Given the description of an element on the screen output the (x, y) to click on. 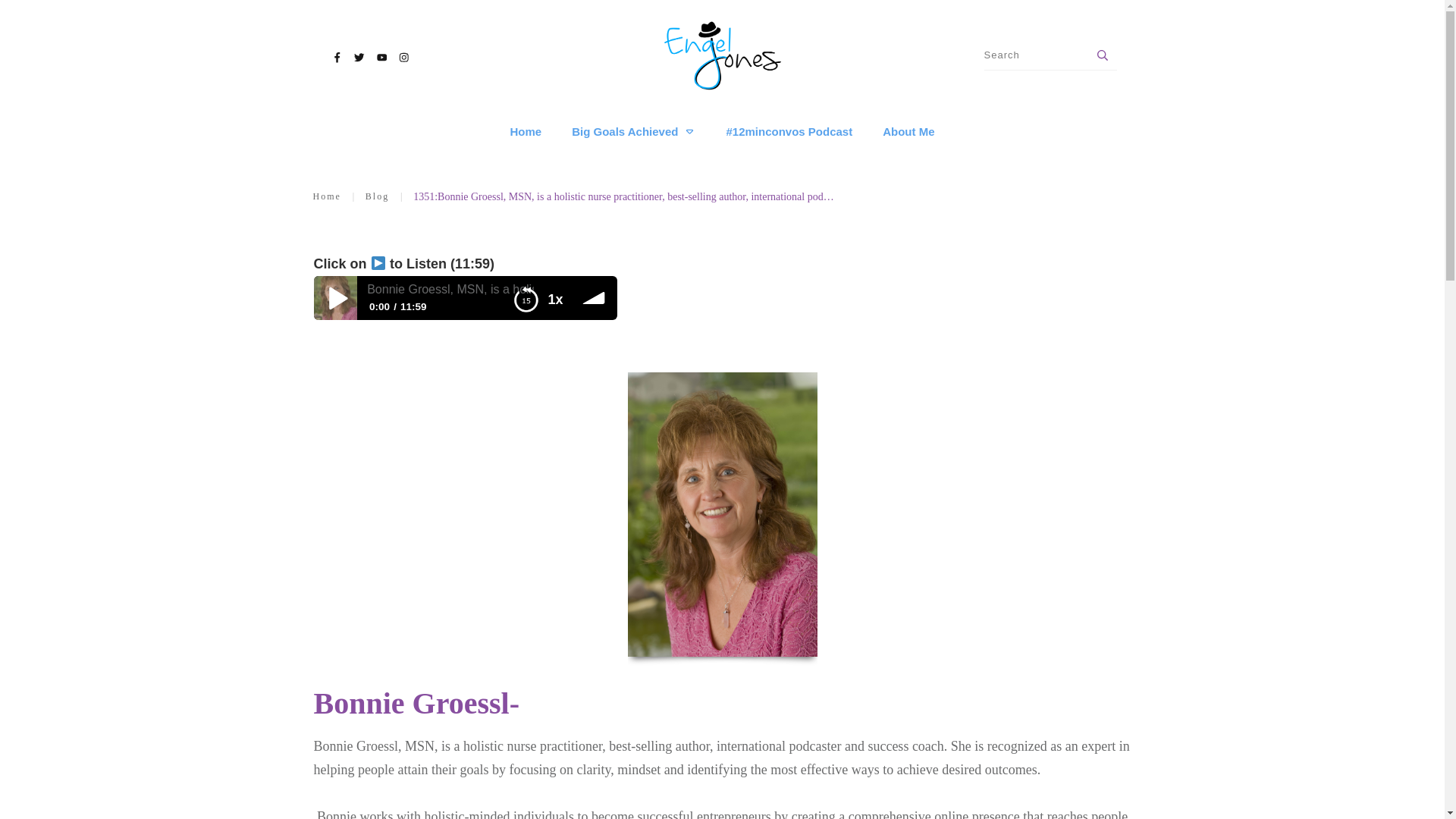
Big Goals Achieved (633, 131)
About Me (908, 131)
Blog (376, 196)
Home (326, 196)
Home (525, 131)
